Given the description of an element on the screen output the (x, y) to click on. 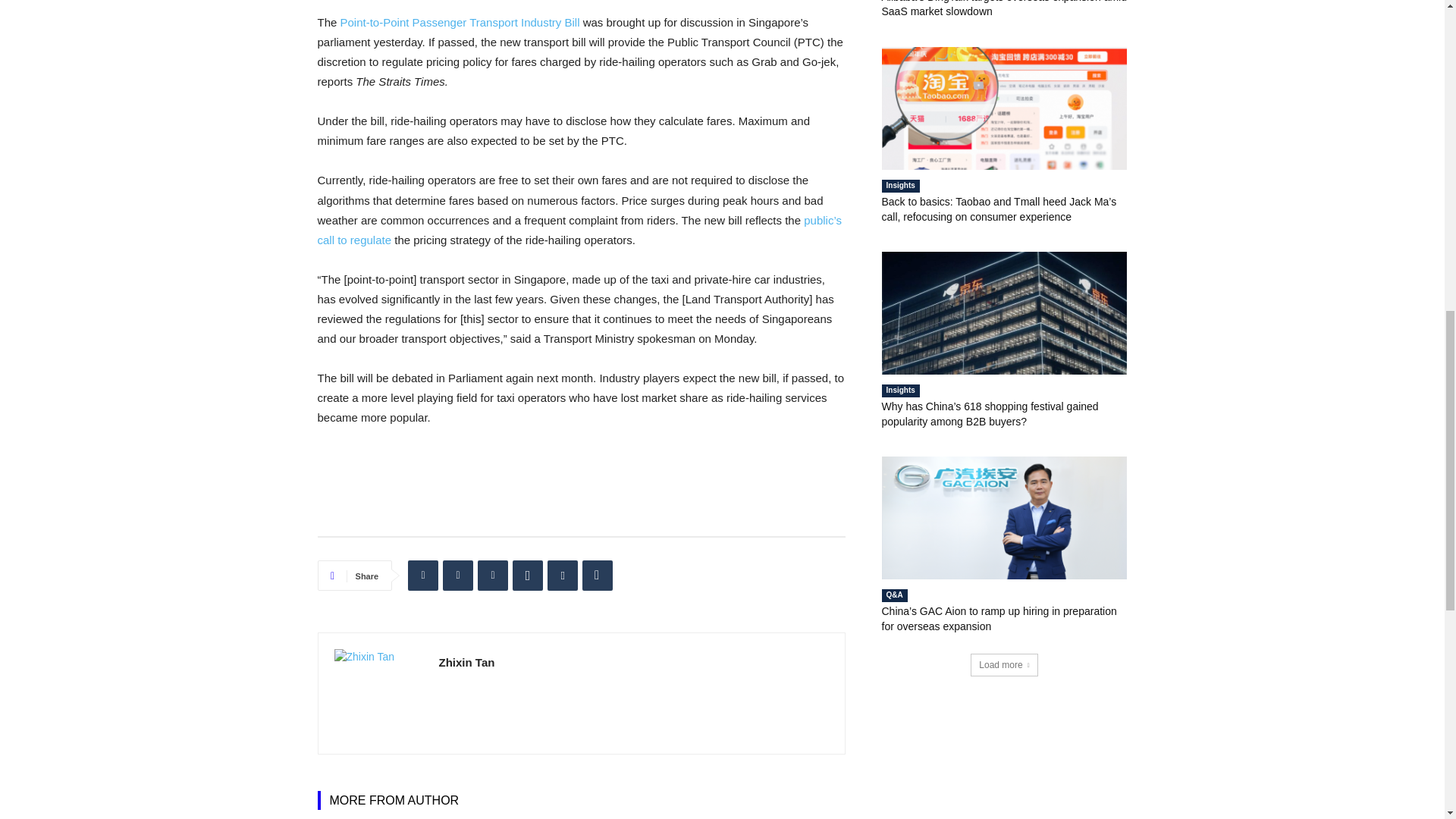
Zhixin Tan (377, 693)
Twitter (457, 575)
Point-to-Point Passenger Transport Industry Bill (459, 21)
Facebook (492, 575)
Copy URL (597, 575)
WhatsApp (527, 575)
Linkedin (422, 575)
Email (562, 575)
